Given the description of an element on the screen output the (x, y) to click on. 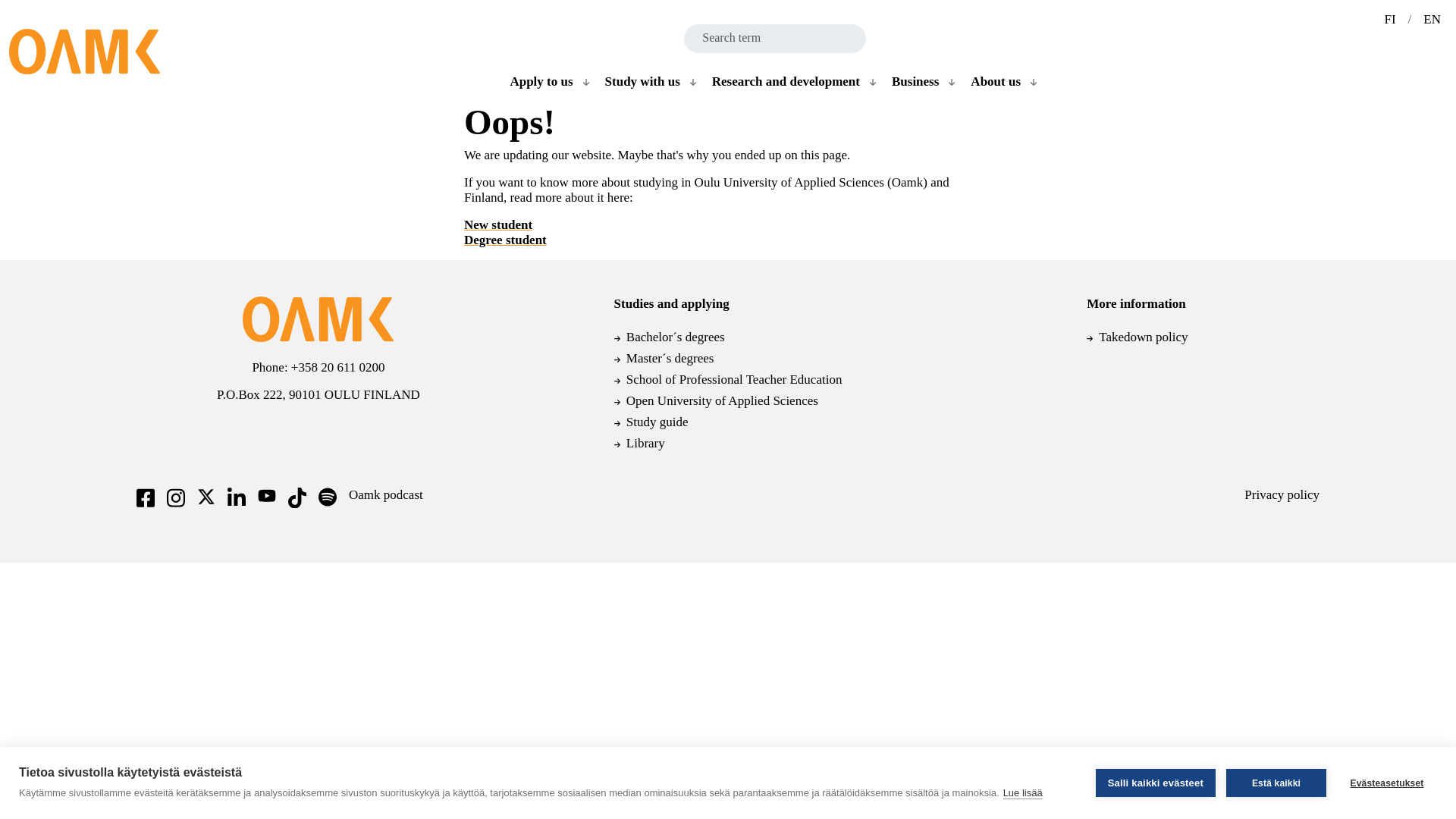
Apply to us (537, 81)
